Given the description of an element on the screen output the (x, y) to click on. 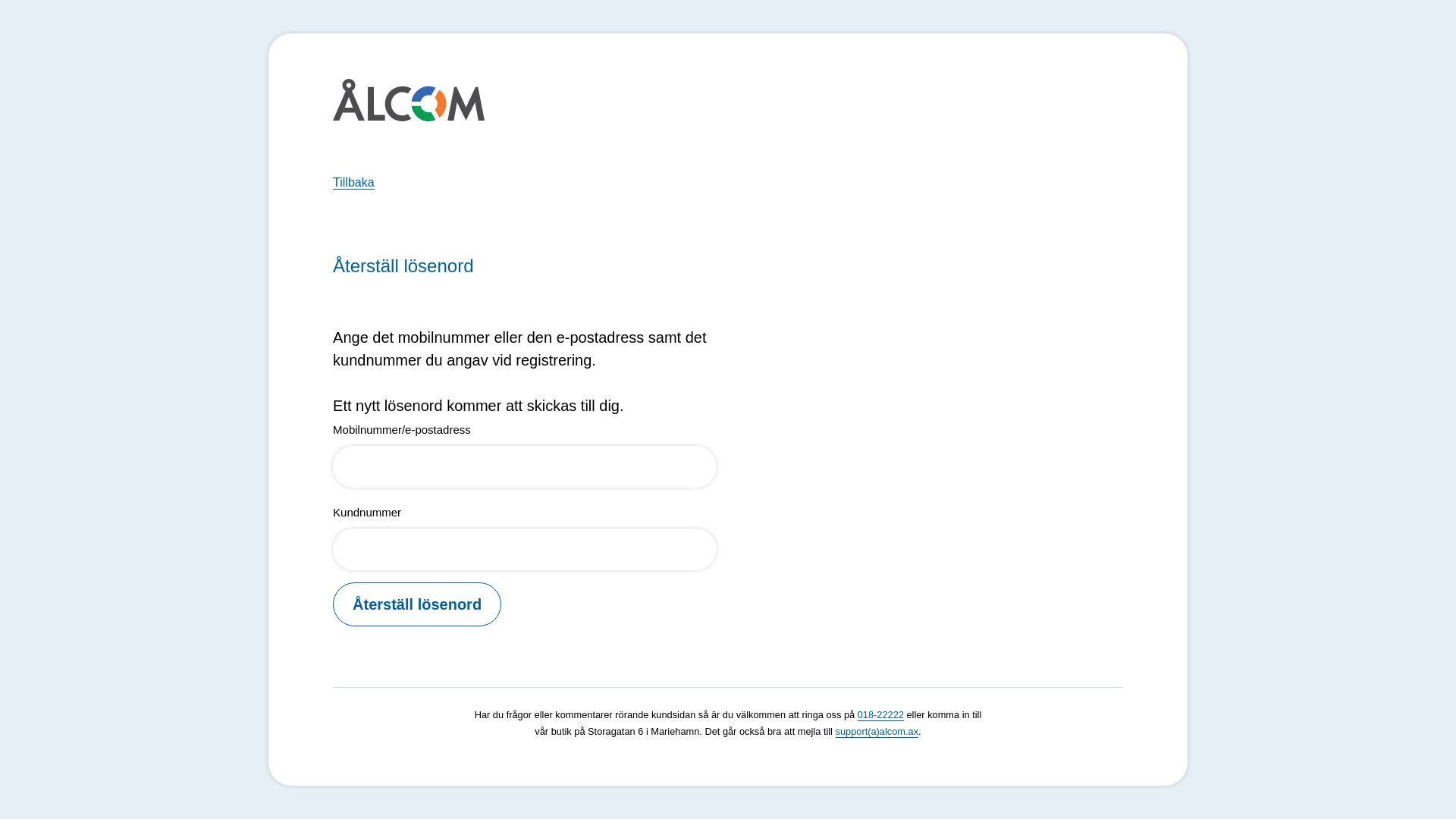
018-22222 Element type: text (880, 715)
Tillbaka Element type: text (353, 182)
support(a)alcom.ax Element type: text (877, 731)
